Given the description of an element on the screen output the (x, y) to click on. 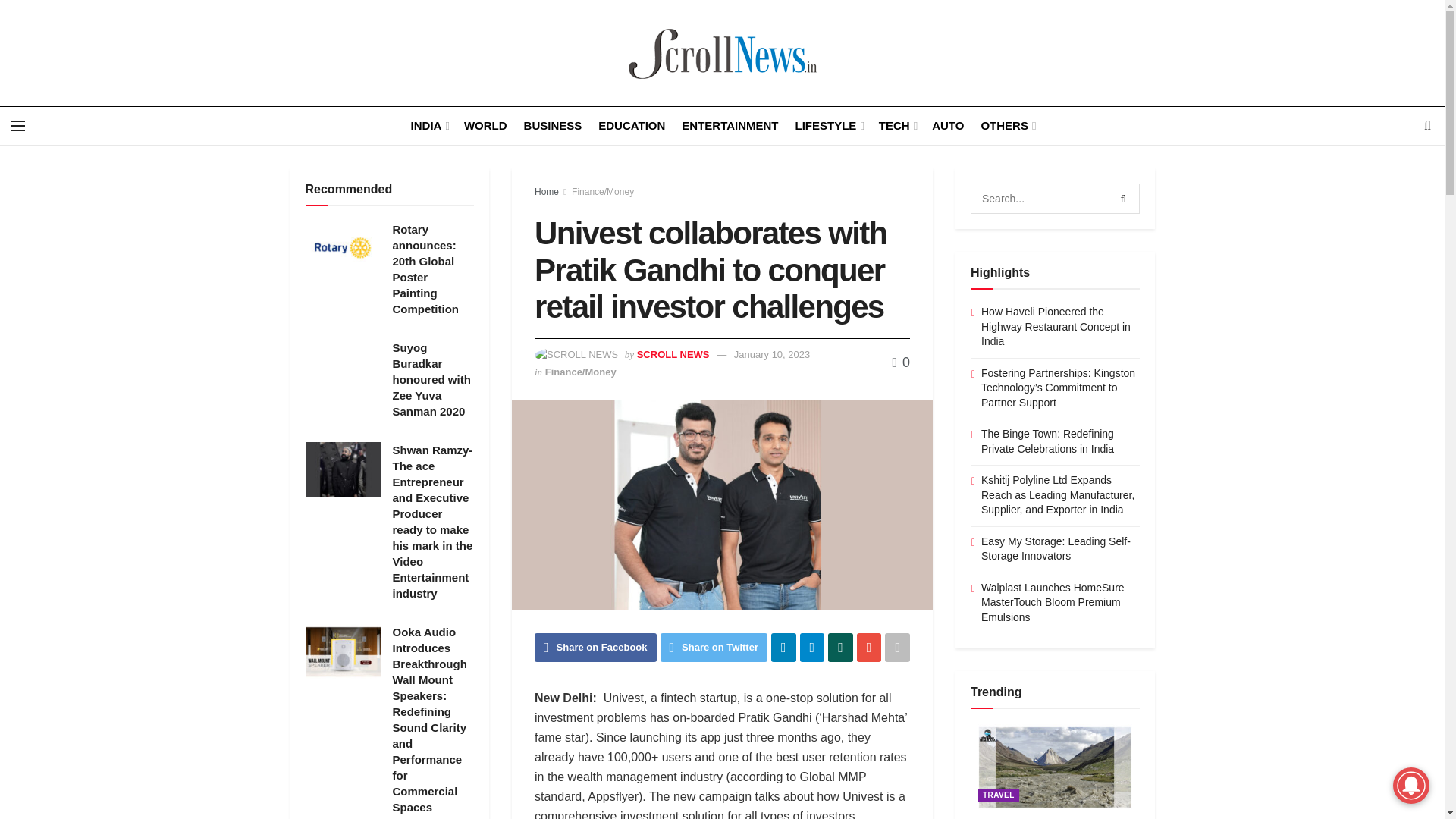
TECH (897, 125)
LIFESTYLE (827, 125)
AUTO (947, 125)
ENTERTAINMENT (729, 125)
WORLD (485, 125)
BUSINESS (553, 125)
OTHERS (1006, 125)
EDUCATION (631, 125)
INDIA (428, 125)
